Given the description of an element on the screen output the (x, y) to click on. 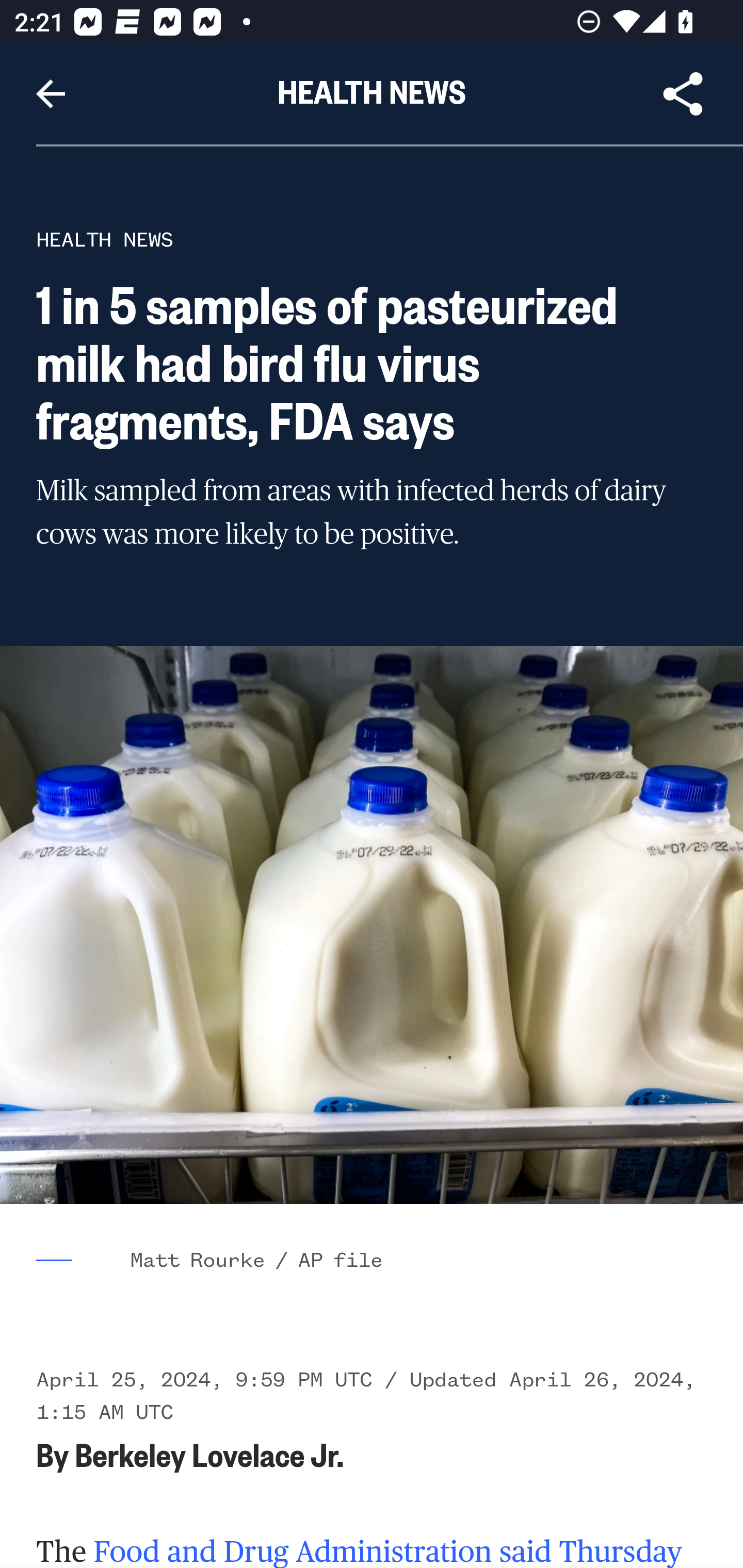
Navigate up (50, 93)
Share Article, button (683, 94)
